Given the description of an element on the screen output the (x, y) to click on. 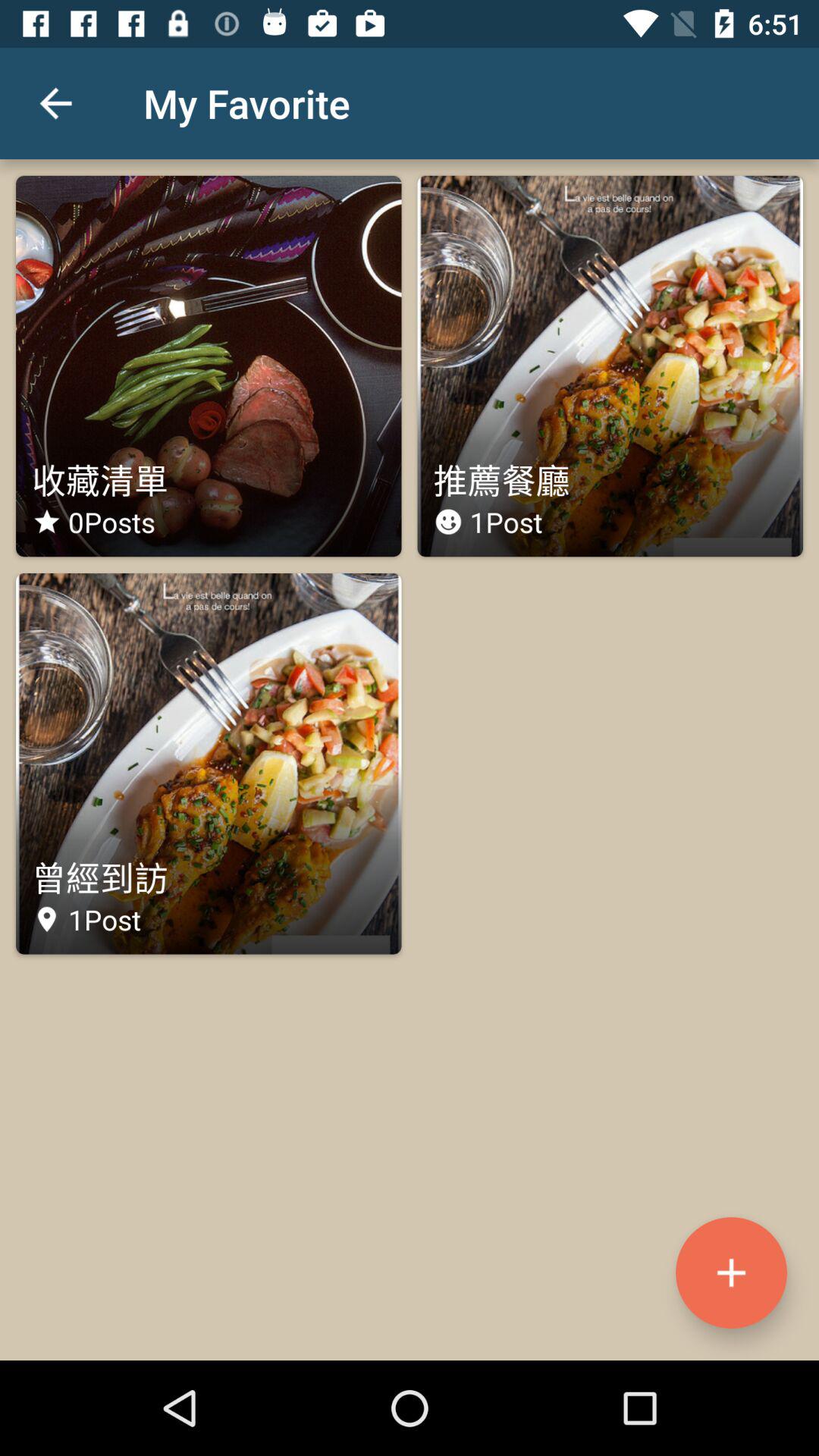
launch item next to my favorite icon (55, 103)
